Given the description of an element on the screen output the (x, y) to click on. 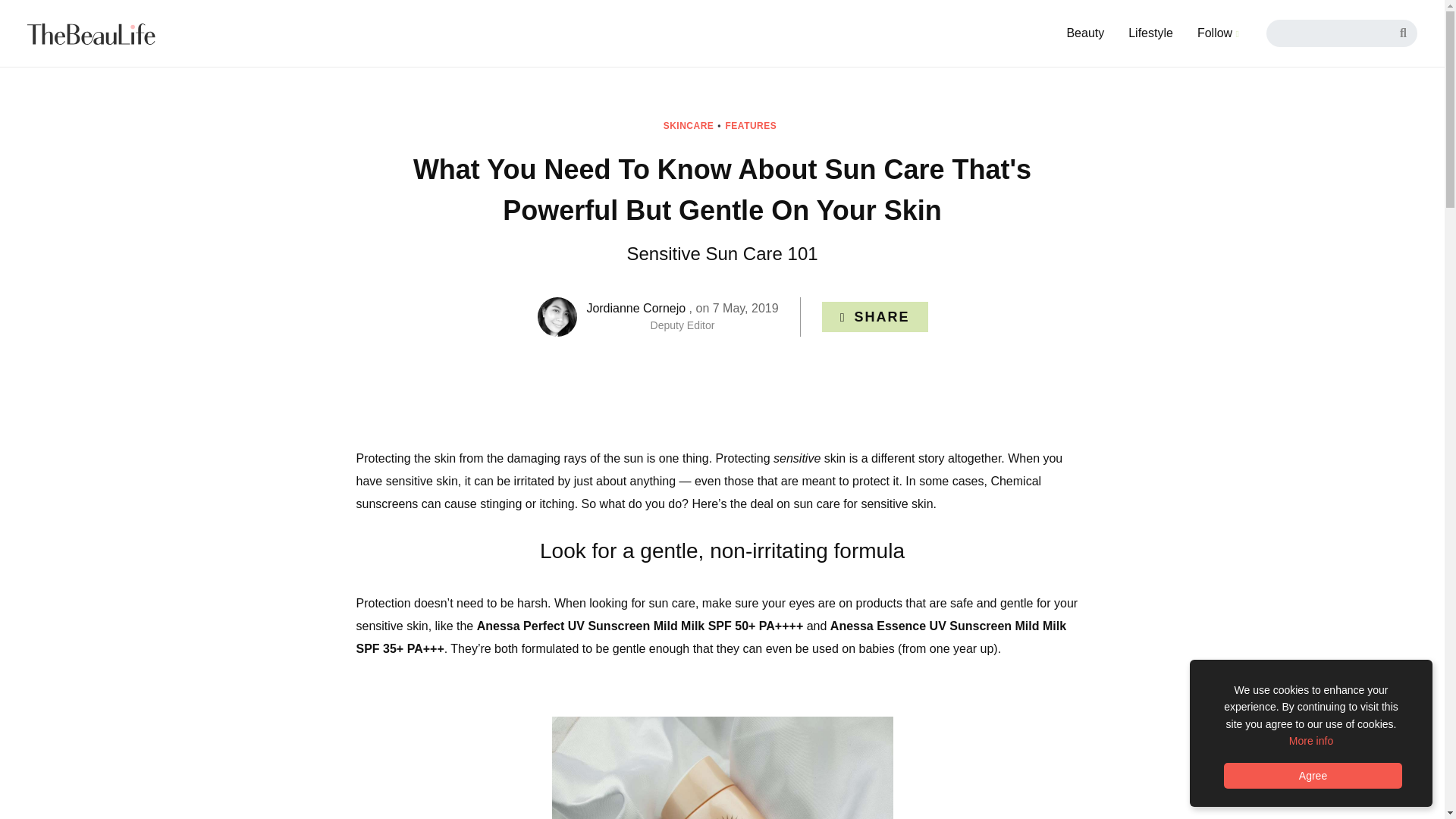
Beauty (1085, 33)
Jordianne Cornejo (635, 308)
FEATURES (753, 125)
SKINCARE (692, 125)
Follow (1217, 33)
The Anessa Mild Milk range is great for sensitive skin (722, 767)
Lifestyle (1150, 33)
